Given the description of an element on the screen output the (x, y) to click on. 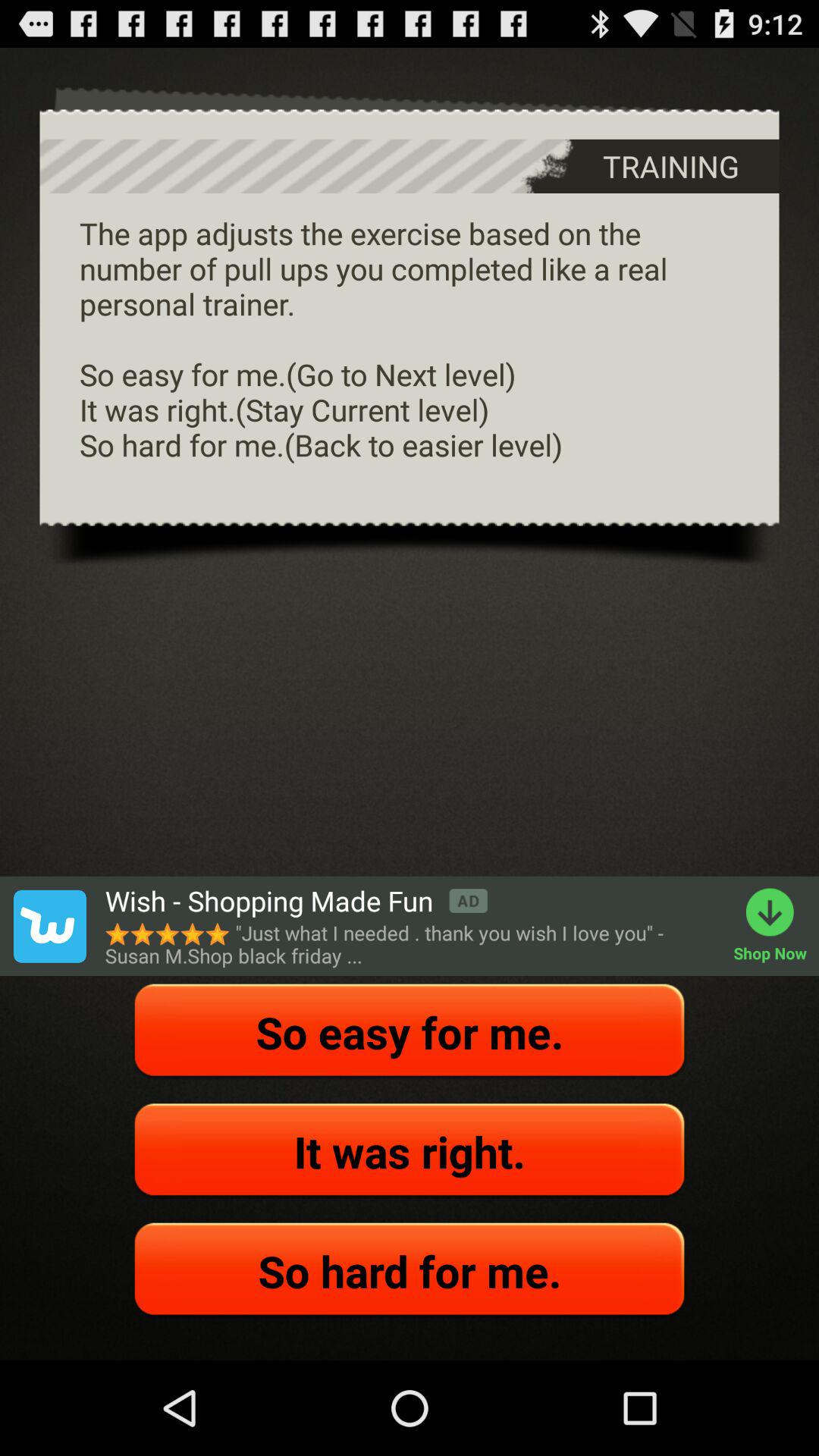
turn on item to the left of shop now icon (296, 900)
